Given the description of an element on the screen output the (x, y) to click on. 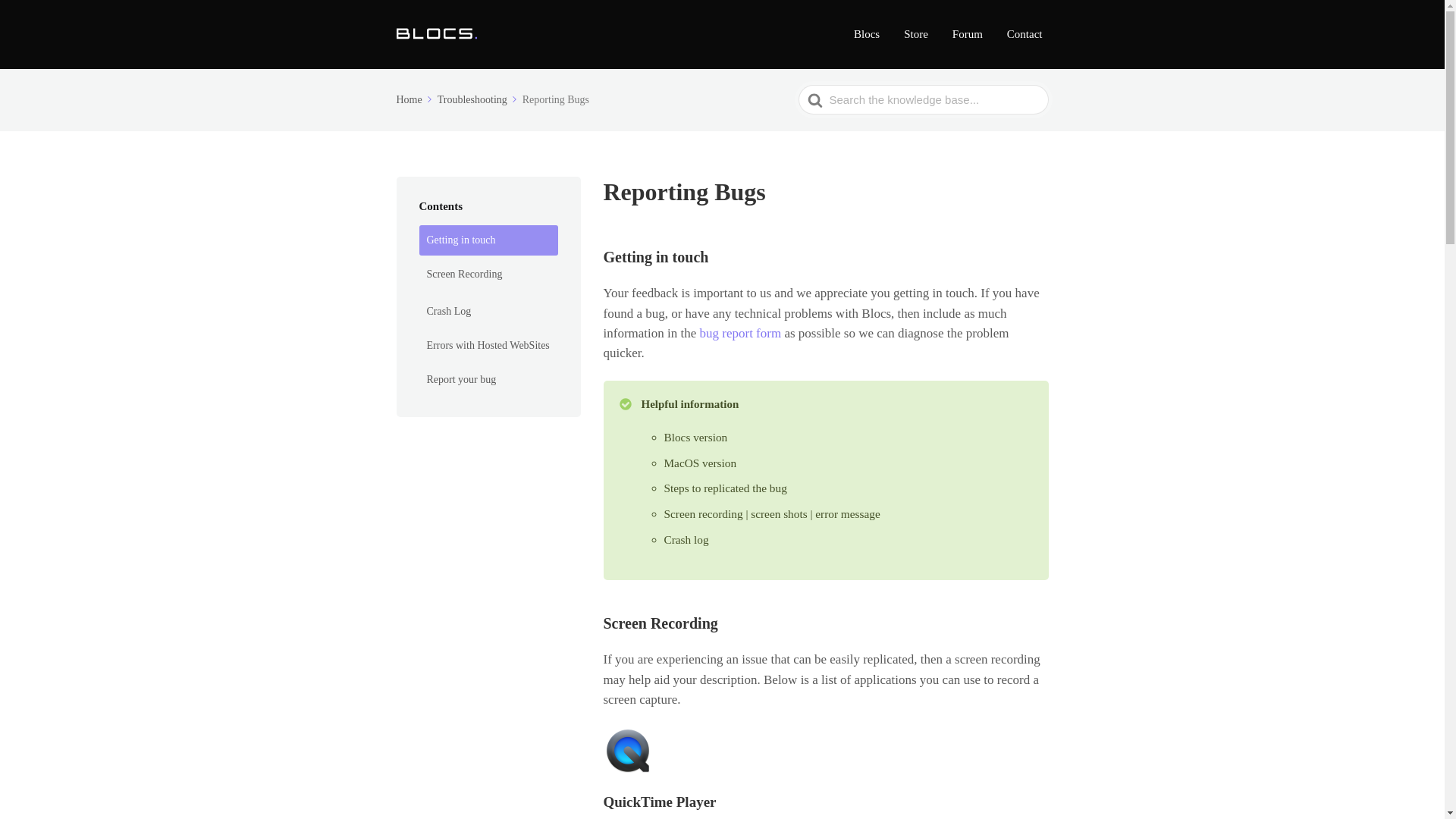
Report your bug (488, 379)
Getting in touch (488, 240)
Blocs (866, 33)
Errors with Hosted WebSites (488, 345)
Forum (967, 33)
Troubleshooting (478, 99)
Contact (1024, 33)
Crash Log (488, 311)
bug report form (740, 332)
Home (414, 99)
Screen Recording (488, 274)
Store (916, 33)
